Given the description of an element on the screen output the (x, y) to click on. 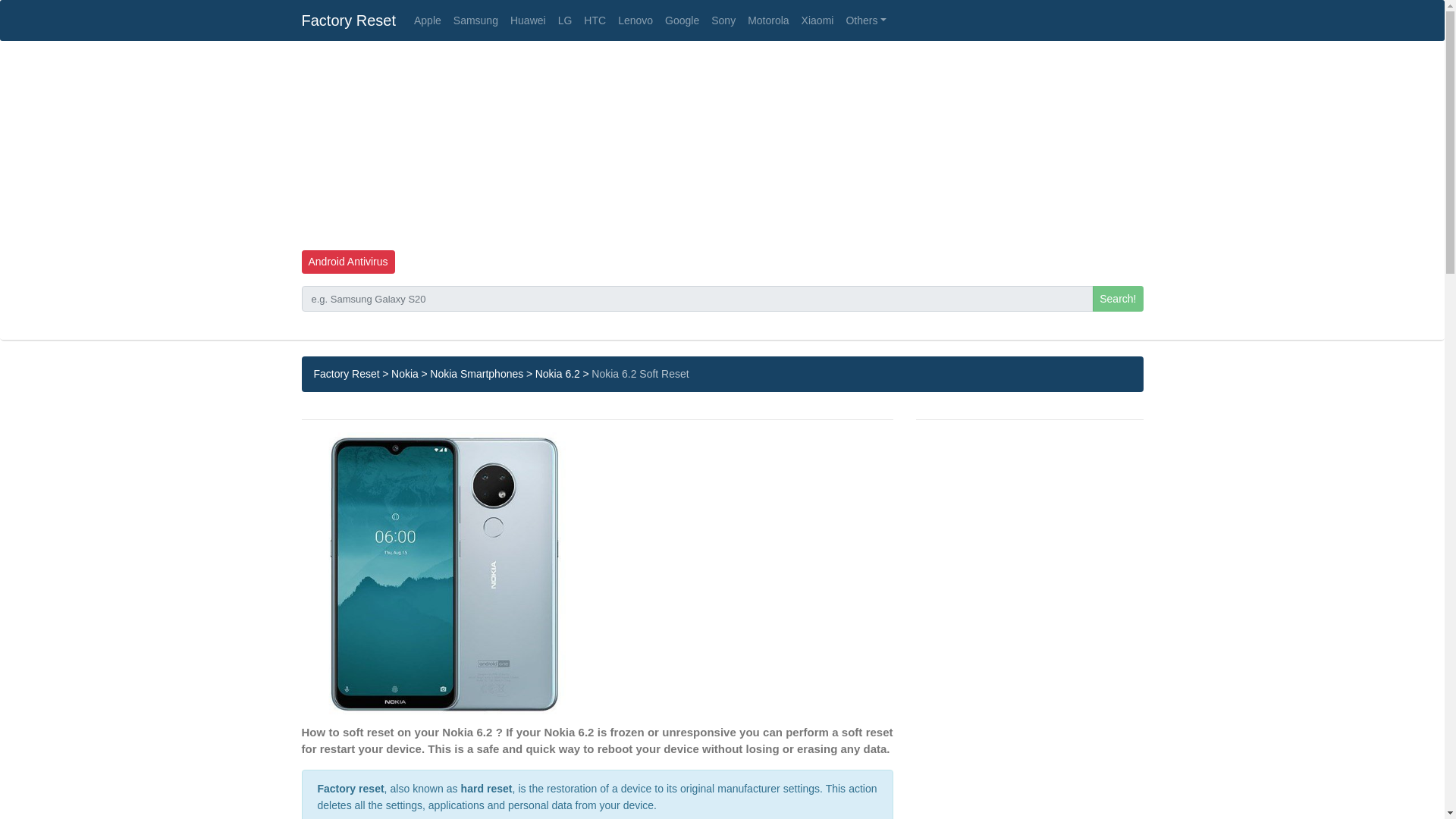
HTC (594, 20)
Apple (426, 20)
Nokia (405, 373)
Search! (1117, 298)
Android Antivirus (347, 261)
Huawei (527, 20)
Nokia 6.2 (557, 373)
Sony (722, 20)
Others (866, 20)
Factory Reset (347, 373)
